Given the description of an element on the screen output the (x, y) to click on. 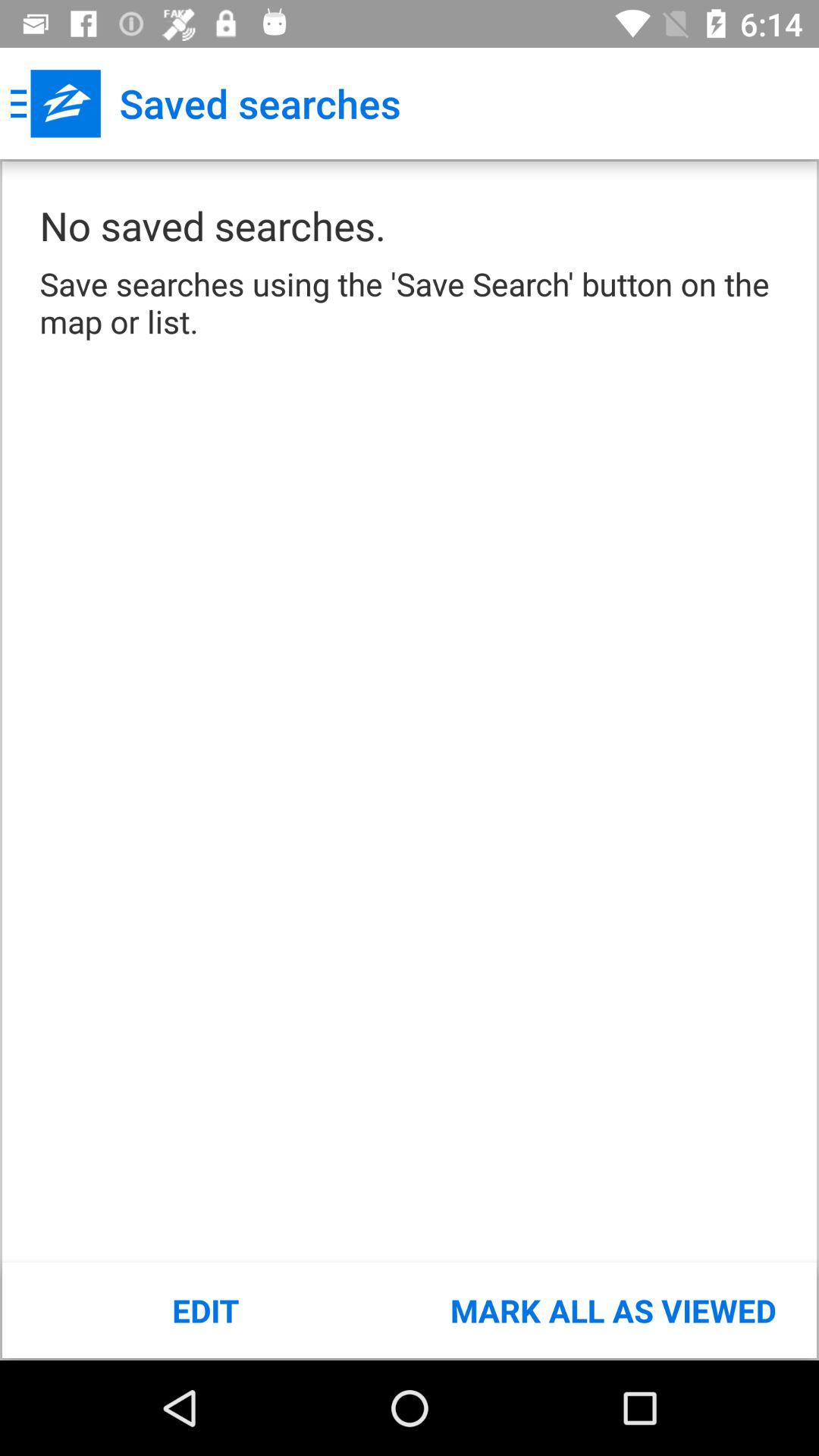
press app to the left of saved searches icon (55, 103)
